Given the description of an element on the screen output the (x, y) to click on. 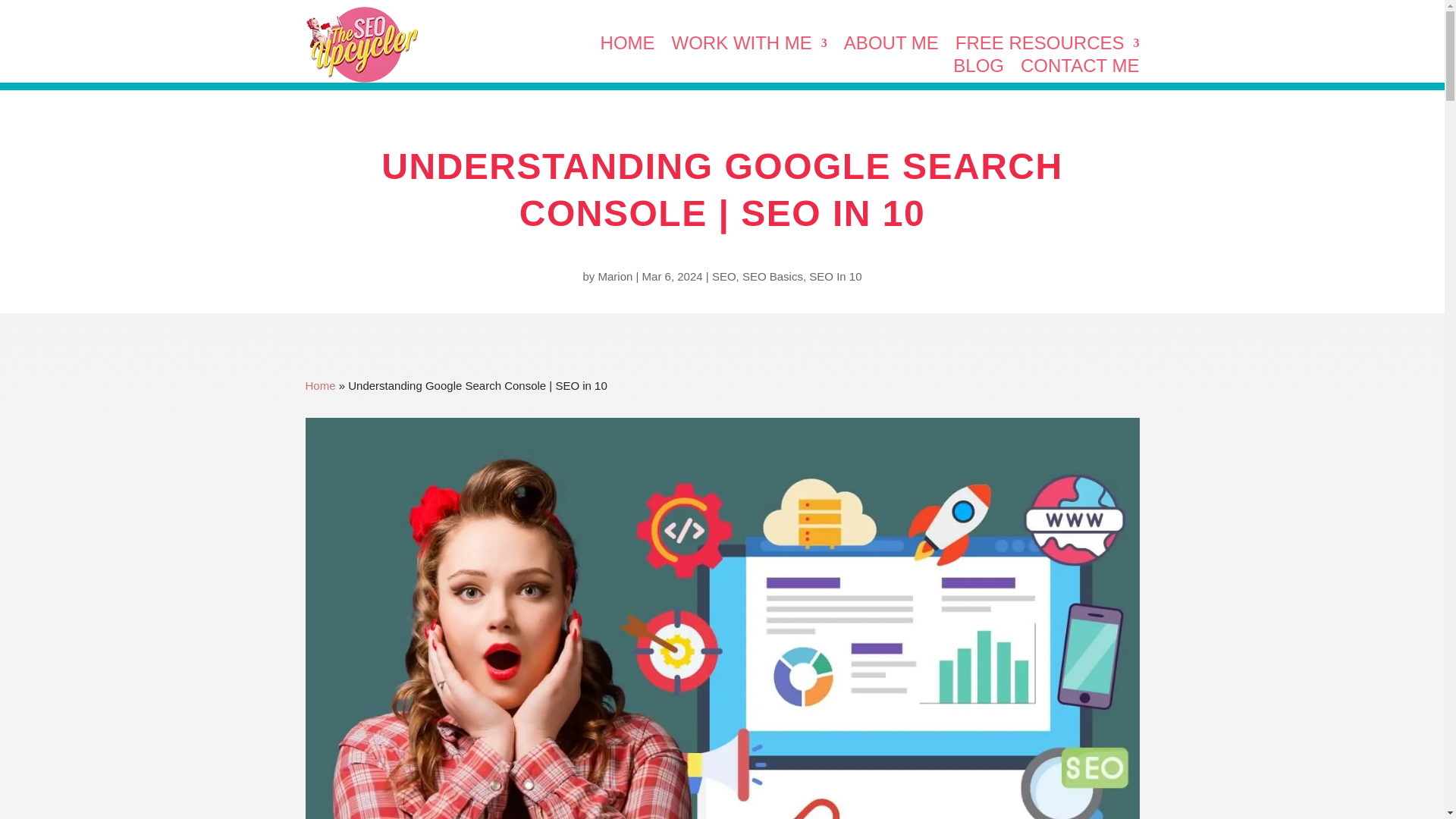
SEO In 10 (835, 276)
CONTACT ME (1079, 68)
HOME (627, 45)
BLOG (978, 68)
Marion (613, 276)
SEO Basics (772, 276)
ABOUT ME (891, 45)
Home (319, 385)
Posts by Marion (613, 276)
WORK WITH ME (749, 45)
SEO-UPCYCLER-LOGO-150px (361, 43)
SEO (723, 276)
FREE RESOURCES (1047, 45)
